Given the description of an element on the screen output the (x, y) to click on. 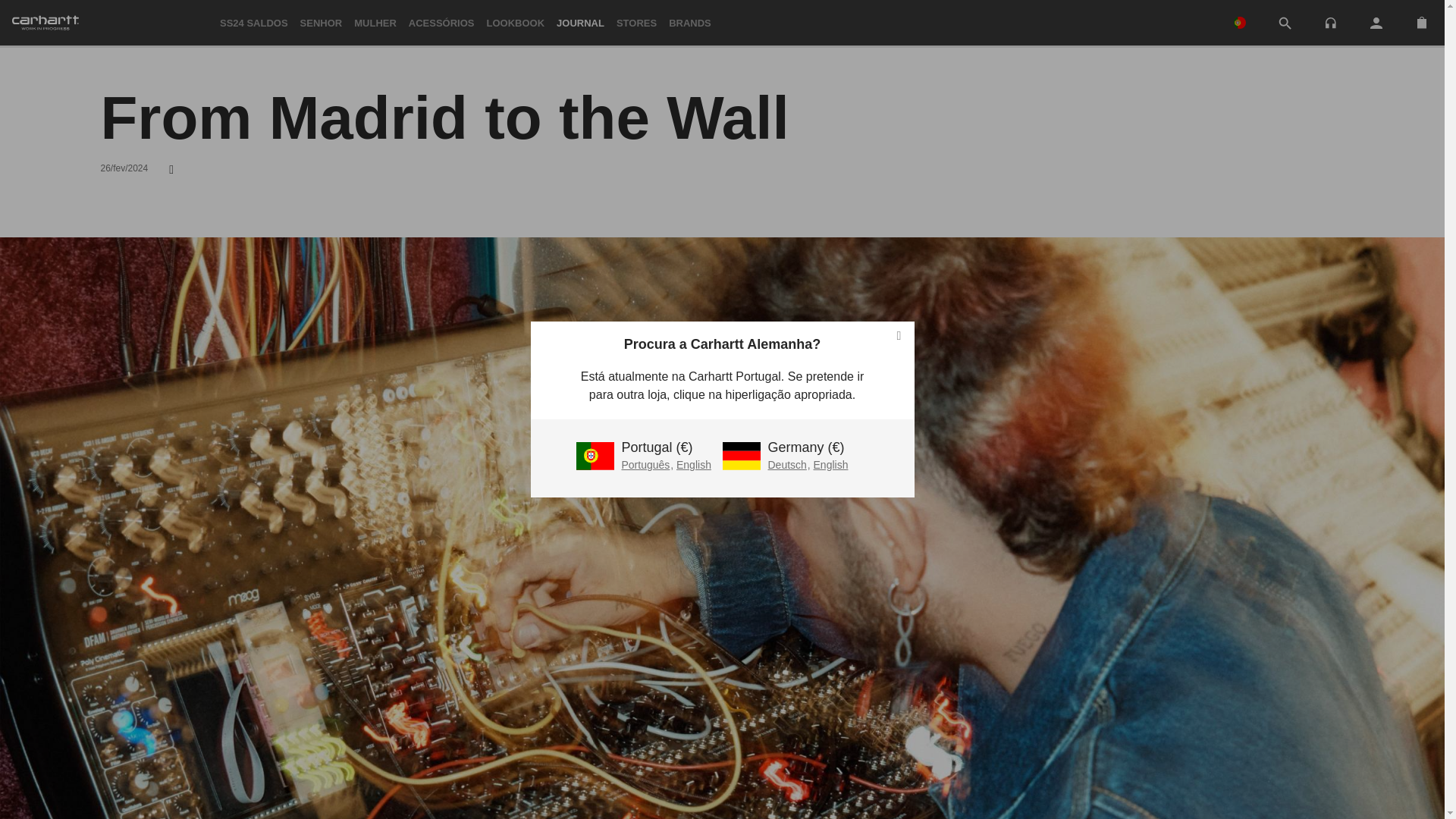
Radio (1330, 22)
Pesquisa aqui (1284, 22)
Pesquisa aqui (1285, 23)
Radio (1330, 21)
